Given the description of an element on the screen output the (x, y) to click on. 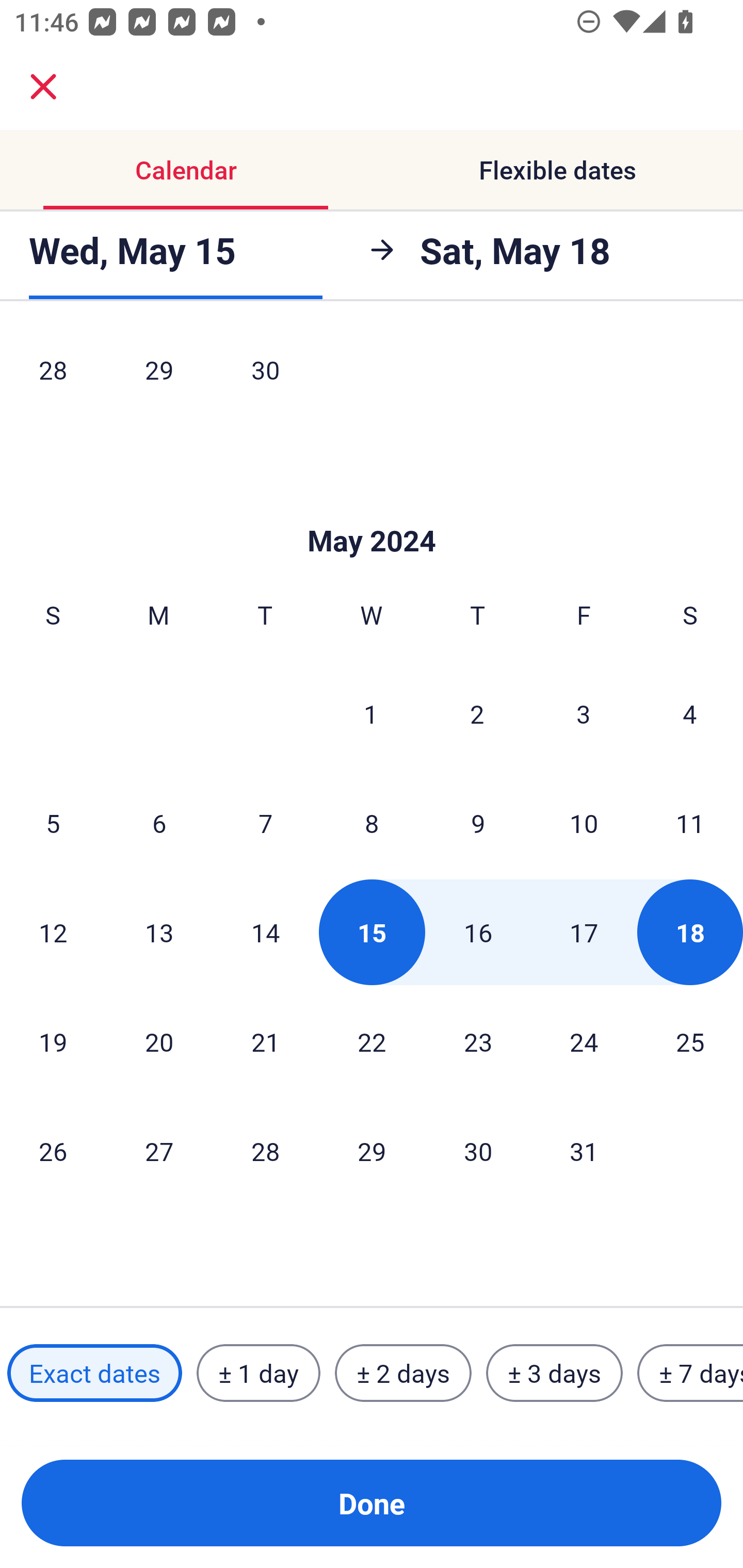
close. (43, 86)
Flexible dates (557, 170)
28 Sunday, April 28, 2024 (53, 375)
29 Monday, April 29, 2024 (159, 375)
30 Tuesday, April 30, 2024 (265, 375)
Skip to Done (371, 510)
1 Wednesday, May 1, 2024 (371, 713)
2 Thursday, May 2, 2024 (477, 713)
3 Friday, May 3, 2024 (583, 713)
4 Saturday, May 4, 2024 (689, 713)
5 Sunday, May 5, 2024 (53, 822)
6 Monday, May 6, 2024 (159, 822)
7 Tuesday, May 7, 2024 (265, 822)
8 Wednesday, May 8, 2024 (371, 822)
9 Thursday, May 9, 2024 (477, 822)
10 Friday, May 10, 2024 (584, 822)
11 Saturday, May 11, 2024 (690, 822)
12 Sunday, May 12, 2024 (53, 931)
13 Monday, May 13, 2024 (159, 931)
14 Tuesday, May 14, 2024 (265, 931)
19 Sunday, May 19, 2024 (53, 1041)
20 Monday, May 20, 2024 (159, 1041)
21 Tuesday, May 21, 2024 (265, 1041)
22 Wednesday, May 22, 2024 (371, 1041)
23 Thursday, May 23, 2024 (477, 1041)
24 Friday, May 24, 2024 (584, 1041)
25 Saturday, May 25, 2024 (690, 1041)
26 Sunday, May 26, 2024 (53, 1150)
27 Monday, May 27, 2024 (159, 1150)
28 Tuesday, May 28, 2024 (265, 1150)
29 Wednesday, May 29, 2024 (371, 1150)
30 Thursday, May 30, 2024 (477, 1150)
31 Friday, May 31, 2024 (584, 1150)
Exact dates (94, 1372)
± 1 day (258, 1372)
± 2 days (403, 1372)
± 3 days (553, 1372)
± 7 days (690, 1372)
Done (371, 1502)
